Given the description of an element on the screen output the (x, y) to click on. 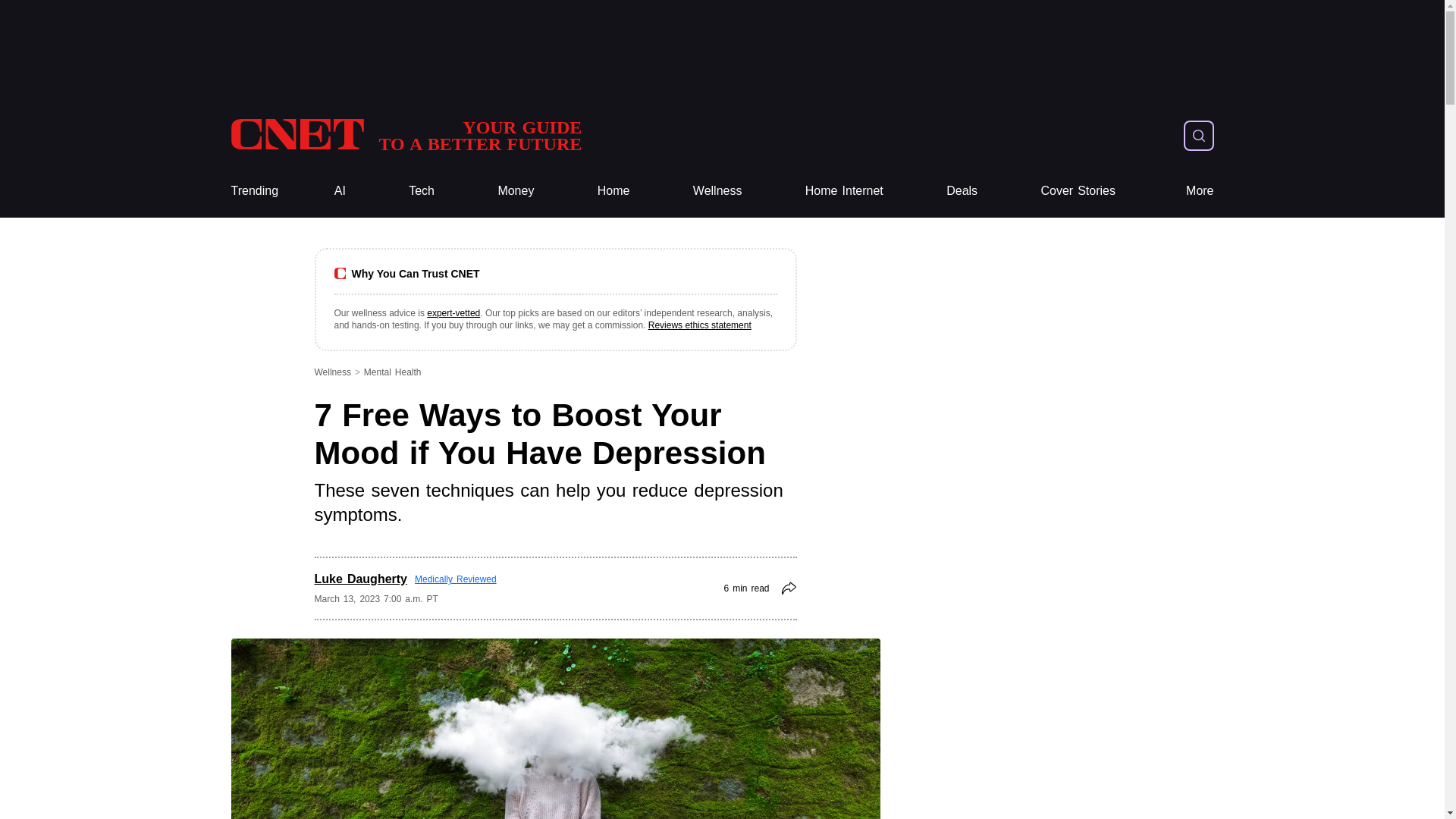
CNET (405, 135)
Trending (254, 190)
Trending (254, 190)
Deals (961, 190)
Home Internet (844, 190)
Wellness (717, 190)
Tech (421, 190)
Tech (421, 190)
Money (515, 190)
Home Internet (844, 190)
